Given the description of an element on the screen output the (x, y) to click on. 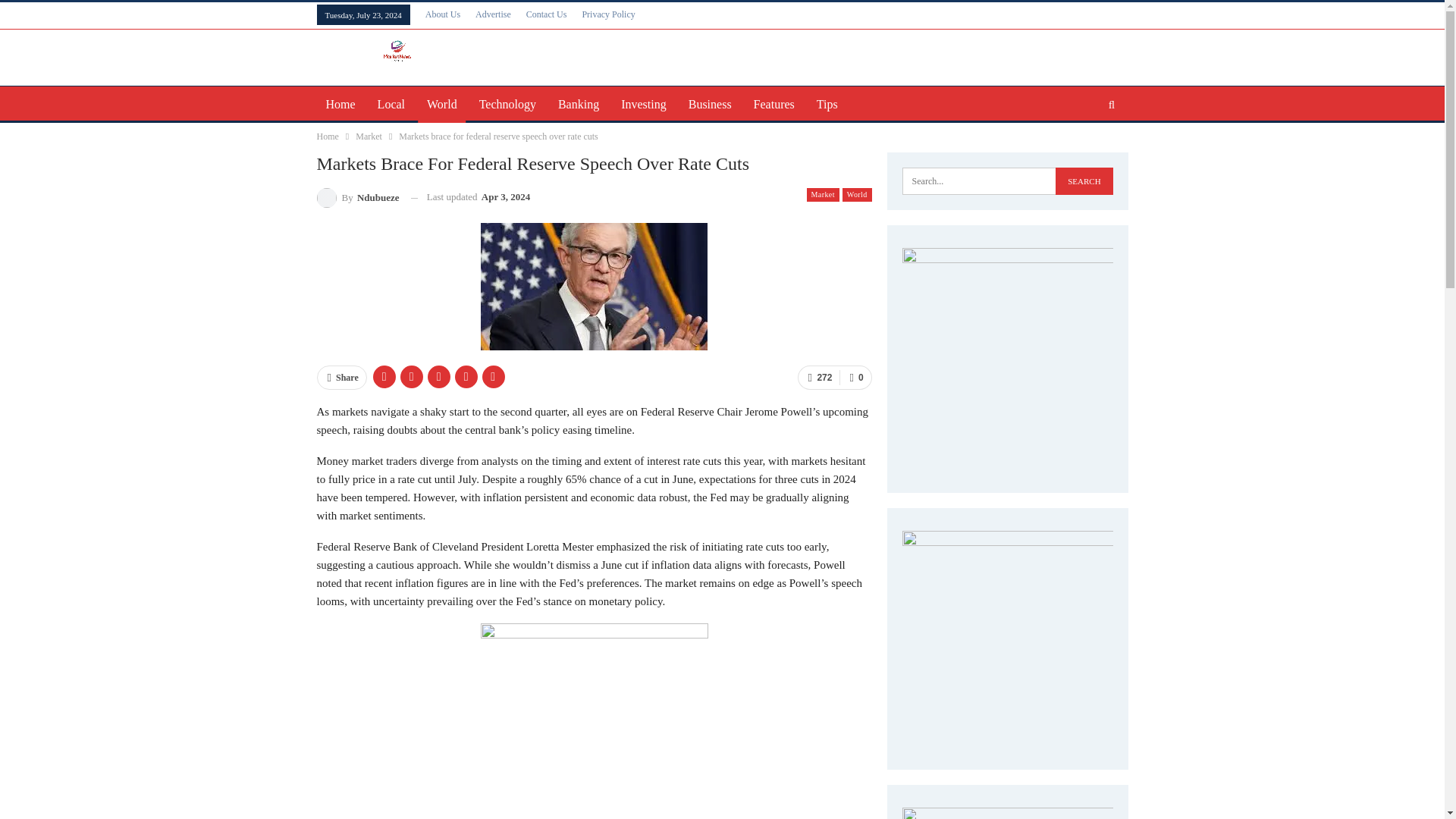
Business (710, 104)
Privacy Policy (607, 14)
Technology (507, 104)
Search (1083, 180)
Features (773, 104)
0 (855, 377)
World (857, 194)
Home (328, 135)
Advertise (493, 14)
World (441, 104)
Banking (578, 104)
Search (1083, 180)
Local (390, 104)
Browse Author Articles (357, 197)
By Ndubueze (357, 197)
